Given the description of an element on the screen output the (x, y) to click on. 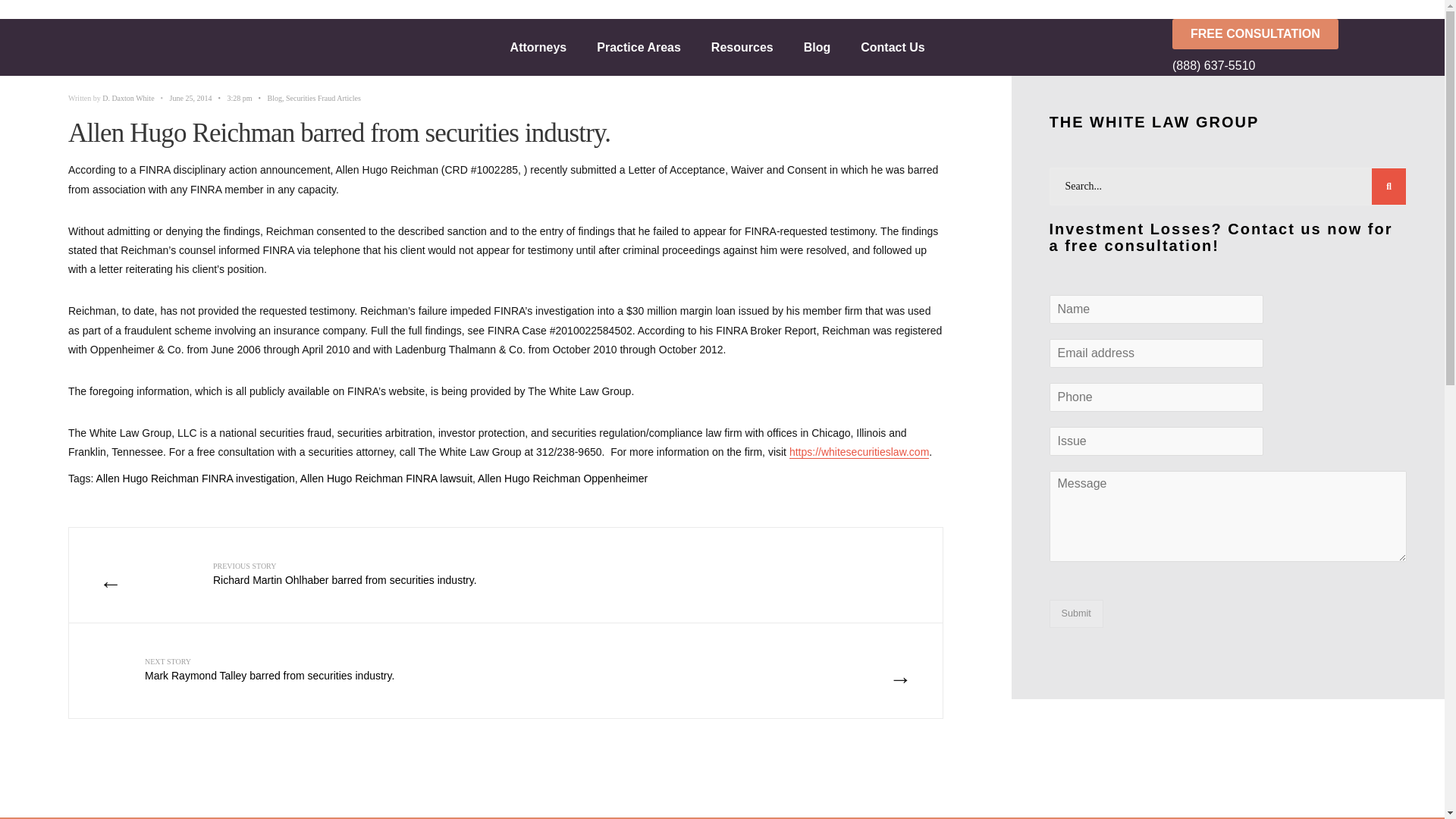
Posts by D. Daxton White (127, 98)
Attorneys (538, 47)
Contact Us (892, 47)
Practice Areas (637, 47)
Resources (742, 47)
Blog (817, 47)
Search... (1228, 186)
